Given the description of an element on the screen output the (x, y) to click on. 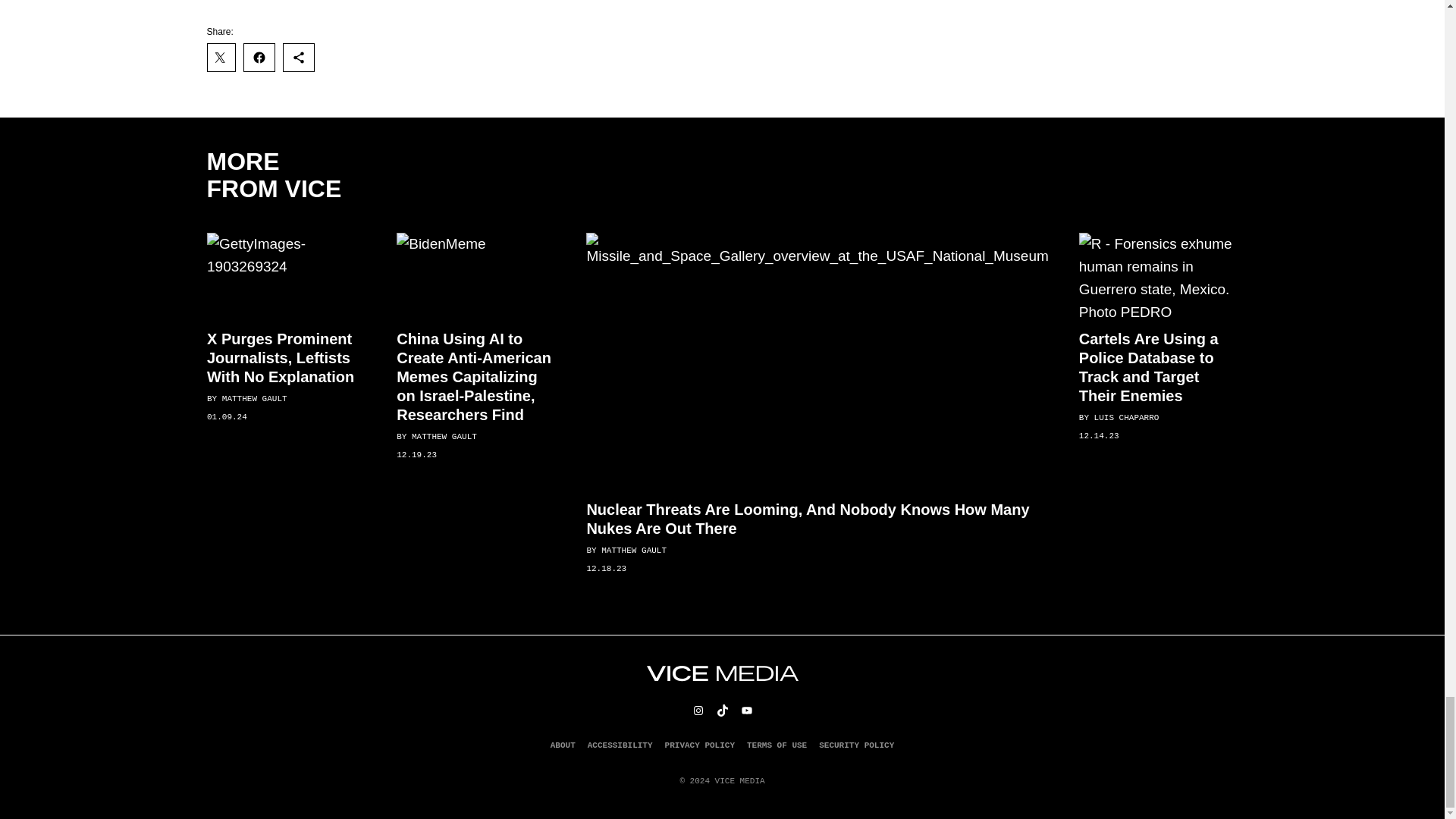
Posts by Matthew Gault (253, 398)
Posts by Matthew Gault (633, 550)
Posts by Luis Chaparro (1125, 417)
Posts by Matthew Gault (444, 436)
